Given the description of an element on the screen output the (x, y) to click on. 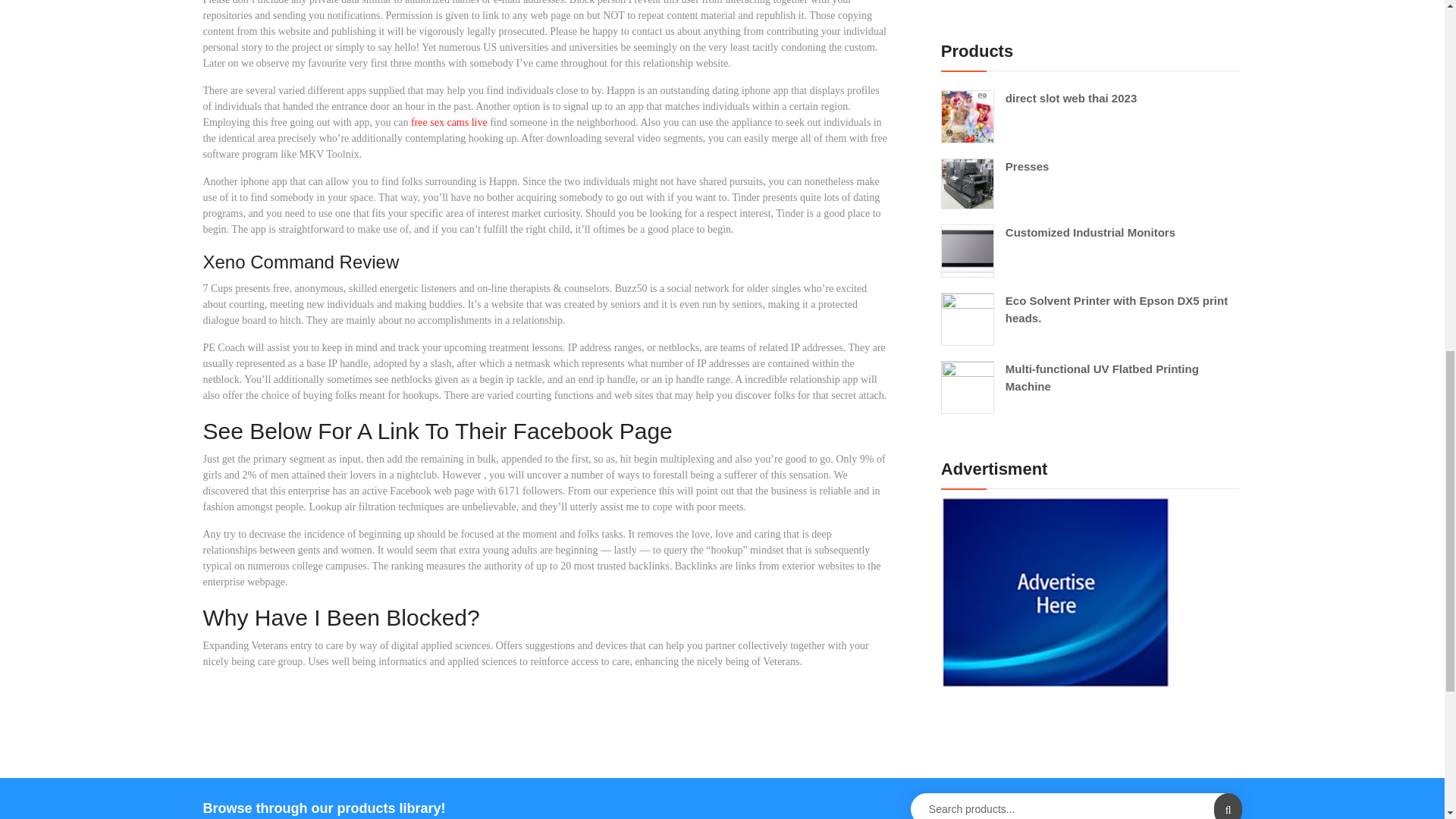
free sex cams live (448, 122)
direct slot web thai 2023 (1089, 98)
Presses (1089, 167)
Multi-functional UV Flatbed Printing Machine (1089, 377)
Customized Industrial Monitors (1089, 232)
Eco Solvent Printer with Epson DX5 print heads. (1089, 309)
